Given the description of an element on the screen output the (x, y) to click on. 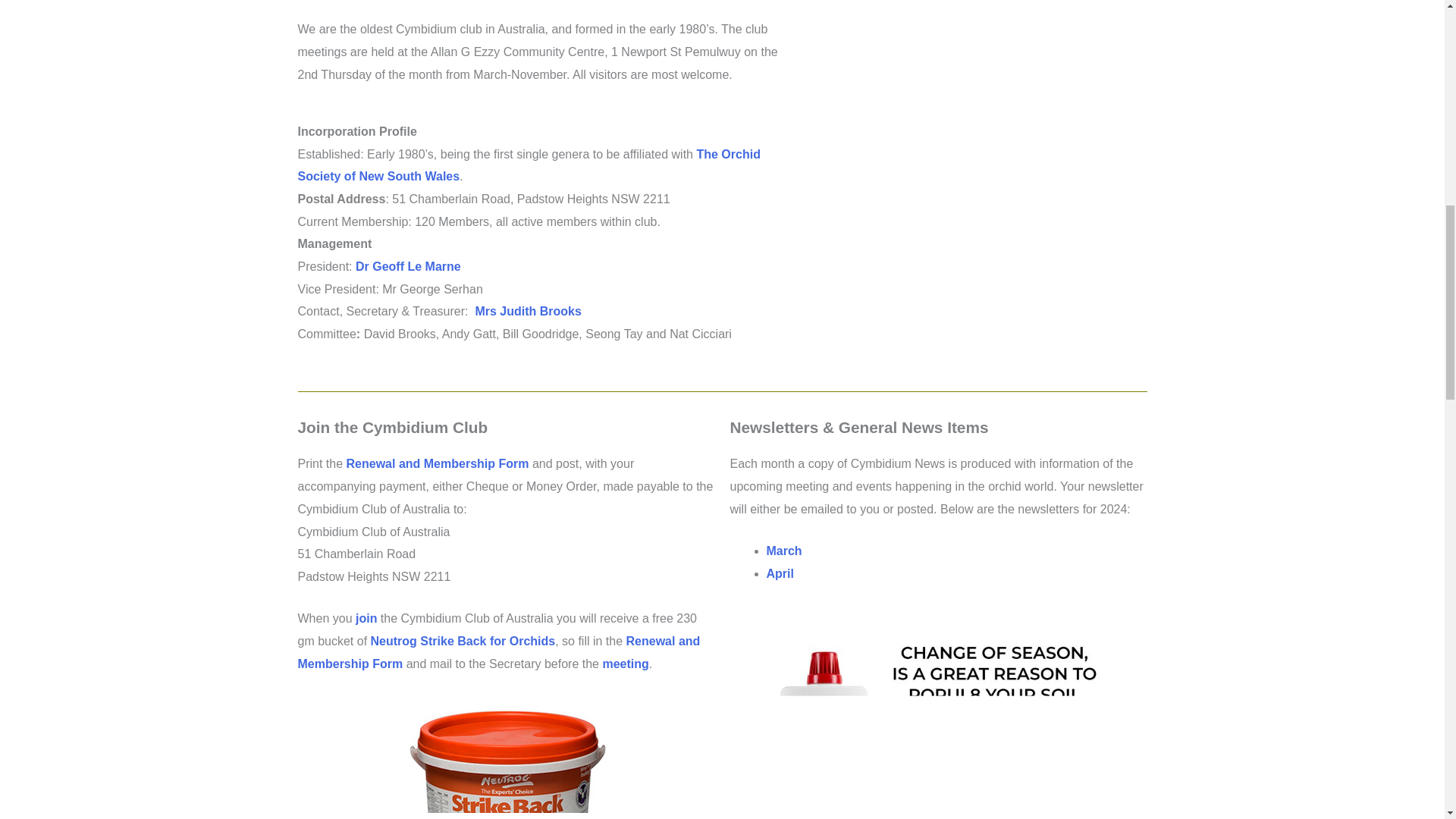
March (783, 550)
Neutrog Strike Back for Orchids (463, 640)
Dr Geoff Le Marne (408, 266)
The Orchid Society of New South Wales (528, 165)
meeting (624, 663)
1 Newport St Pemulwuy (973, 131)
Renewal and Membership Form (498, 652)
Mrs Judith Brooks (527, 310)
join (366, 617)
April (779, 573)
